Given the description of an element on the screen output the (x, y) to click on. 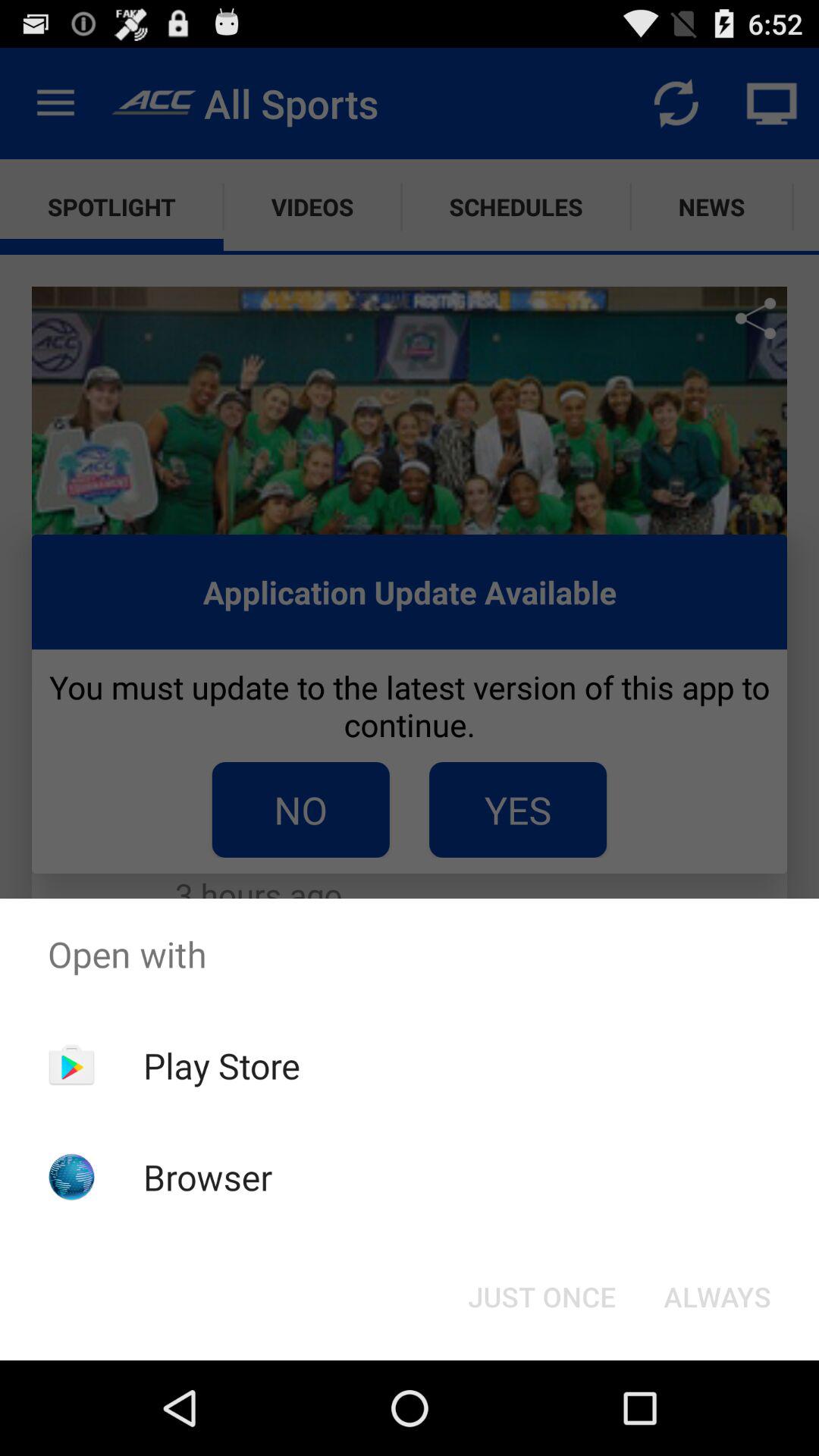
choose the button to the left of always icon (541, 1296)
